Given the description of an element on the screen output the (x, y) to click on. 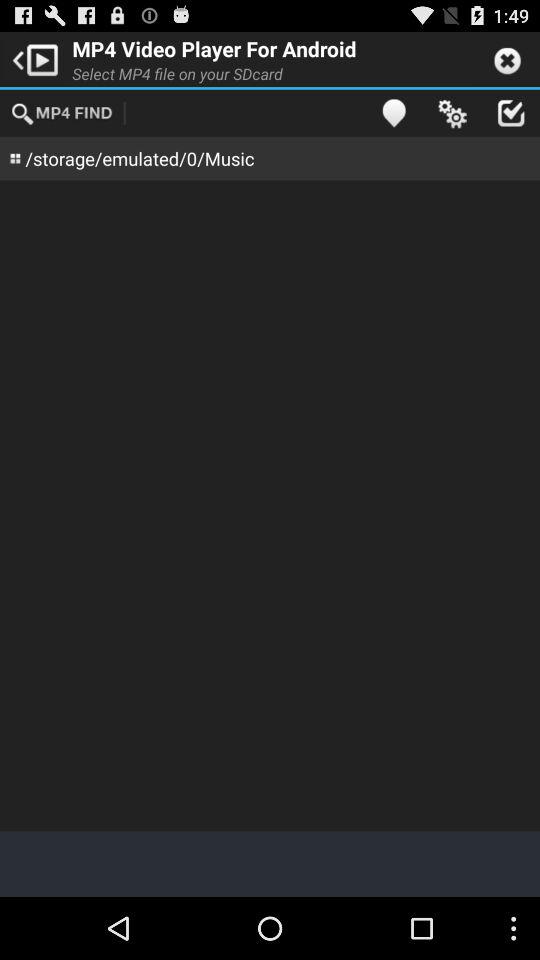
tap icon to the right of the select mp4 file (393, 112)
